Given the description of an element on the screen output the (x, y) to click on. 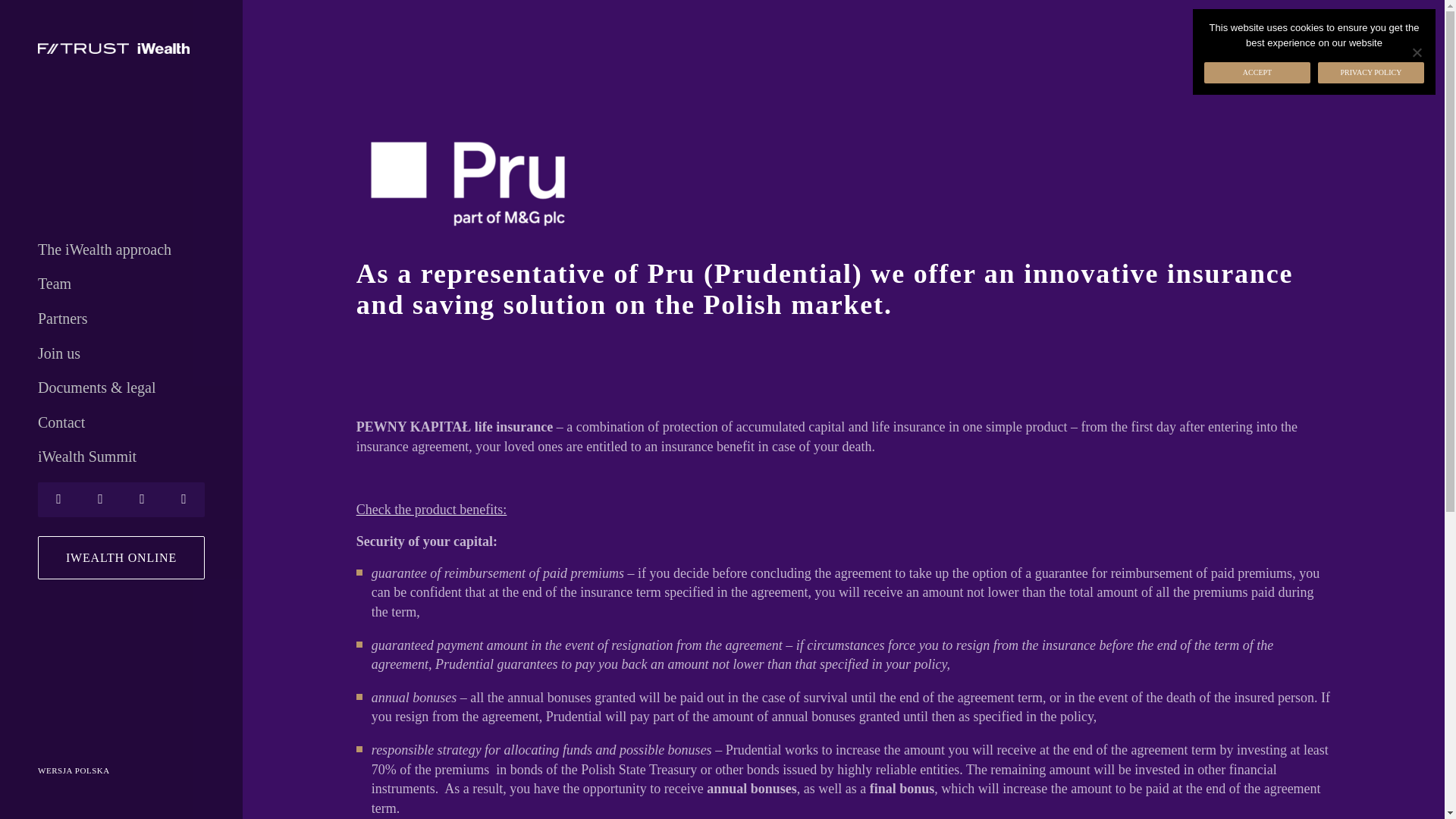
ACCEPT (1257, 72)
WERSJA POLSKA (121, 771)
Join us (121, 353)
PRIVACY POLICY (1370, 72)
iWealth Summit (121, 456)
The iWealth approach (121, 250)
Team (121, 284)
Partners (121, 319)
IWEALTH ONLINE (121, 557)
Contact (121, 423)
